Given the description of an element on the screen output the (x, y) to click on. 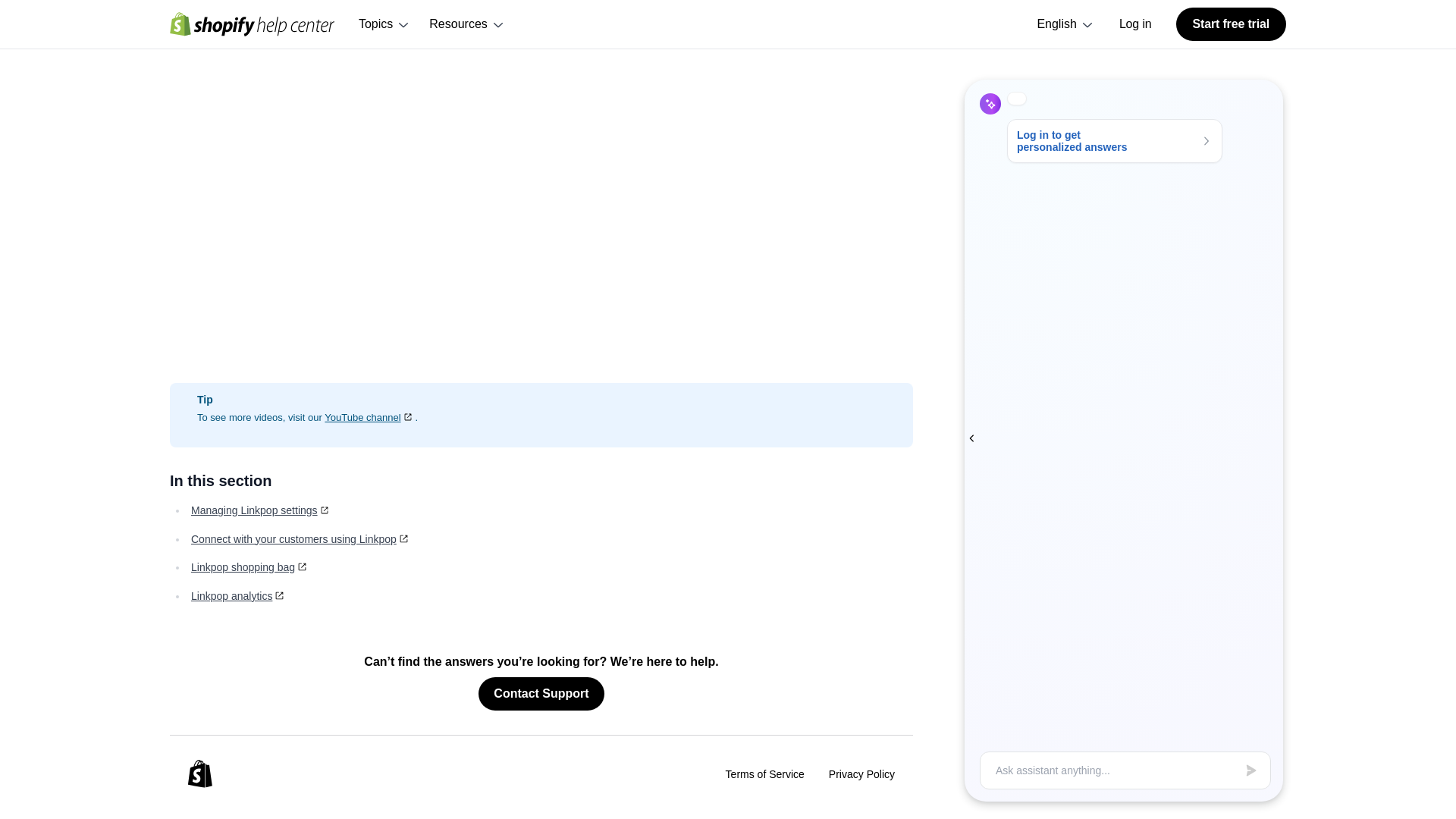
Connect with your customers using Linkpop (300, 539)
Privacy Policy (861, 773)
Terms of Service (765, 773)
Contact Support (541, 693)
YouTube channel (369, 417)
Linkpop analytics (238, 595)
Linkpop shopping bag (249, 567)
Managing Linkpop settings (260, 510)
